Given the description of an element on the screen output the (x, y) to click on. 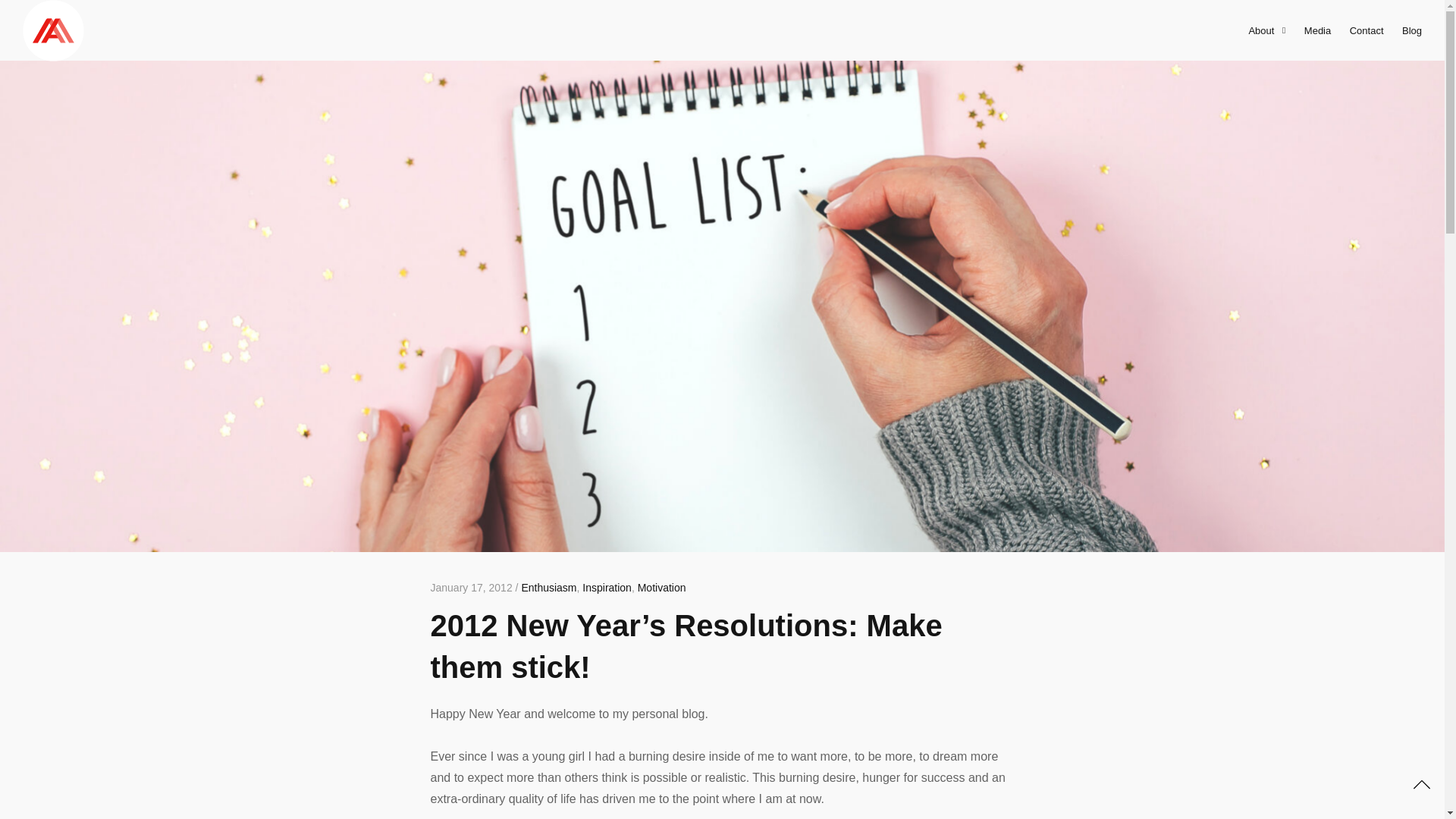
Media (1317, 30)
Enthusiasm (548, 587)
Contact (1366, 30)
About (1266, 30)
Motivation (661, 587)
Inspiration (606, 587)
